Given the description of an element on the screen output the (x, y) to click on. 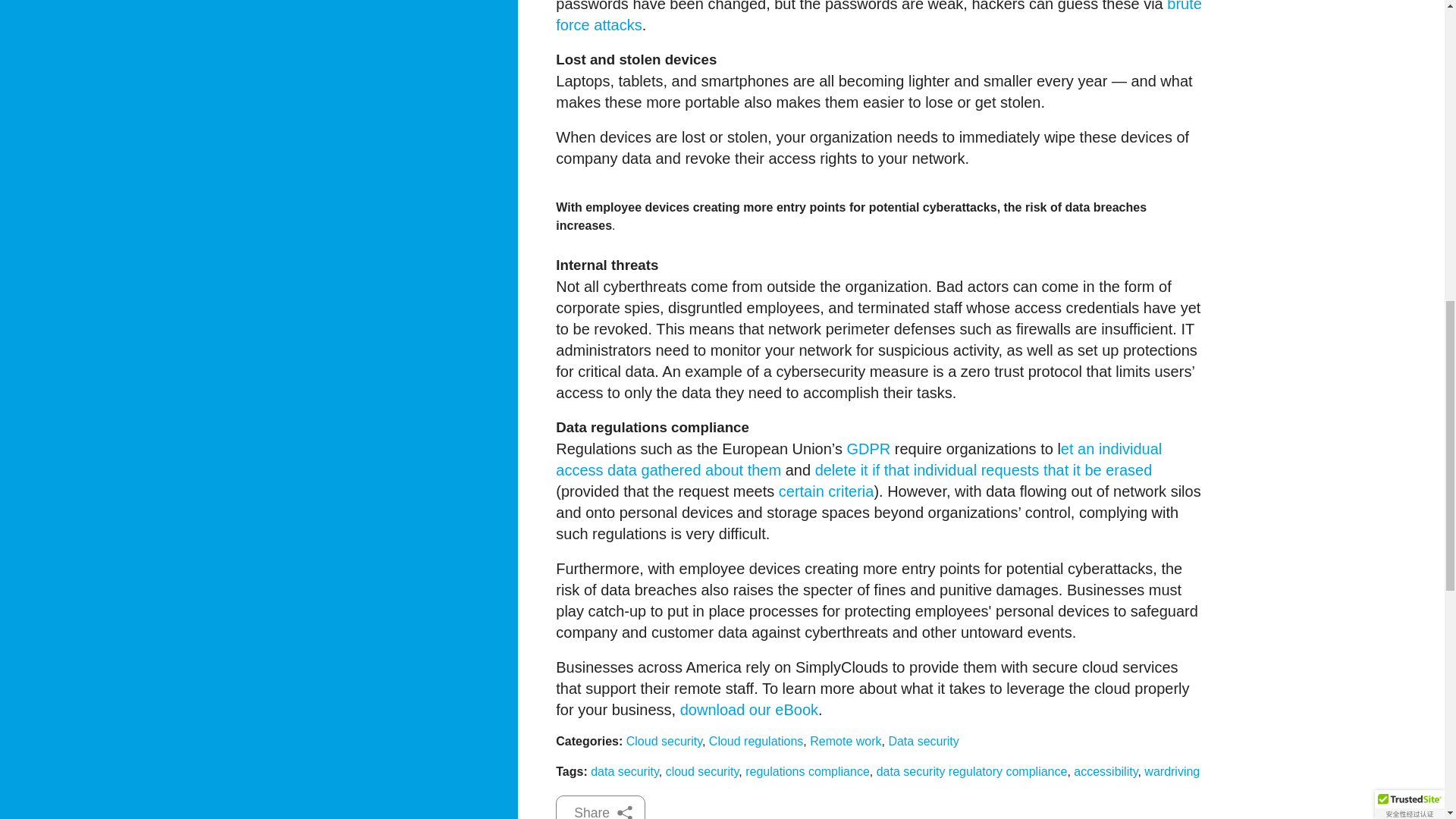
Cloud regulations (756, 740)
Share (600, 807)
data security regulatory compliance (971, 771)
GDPR (867, 448)
certain criteria (826, 491)
Cloud security (663, 740)
Data security (923, 740)
brute force attacks (879, 16)
Cloud regulations (756, 740)
download our eBook (748, 709)
